Given the description of an element on the screen output the (x, y) to click on. 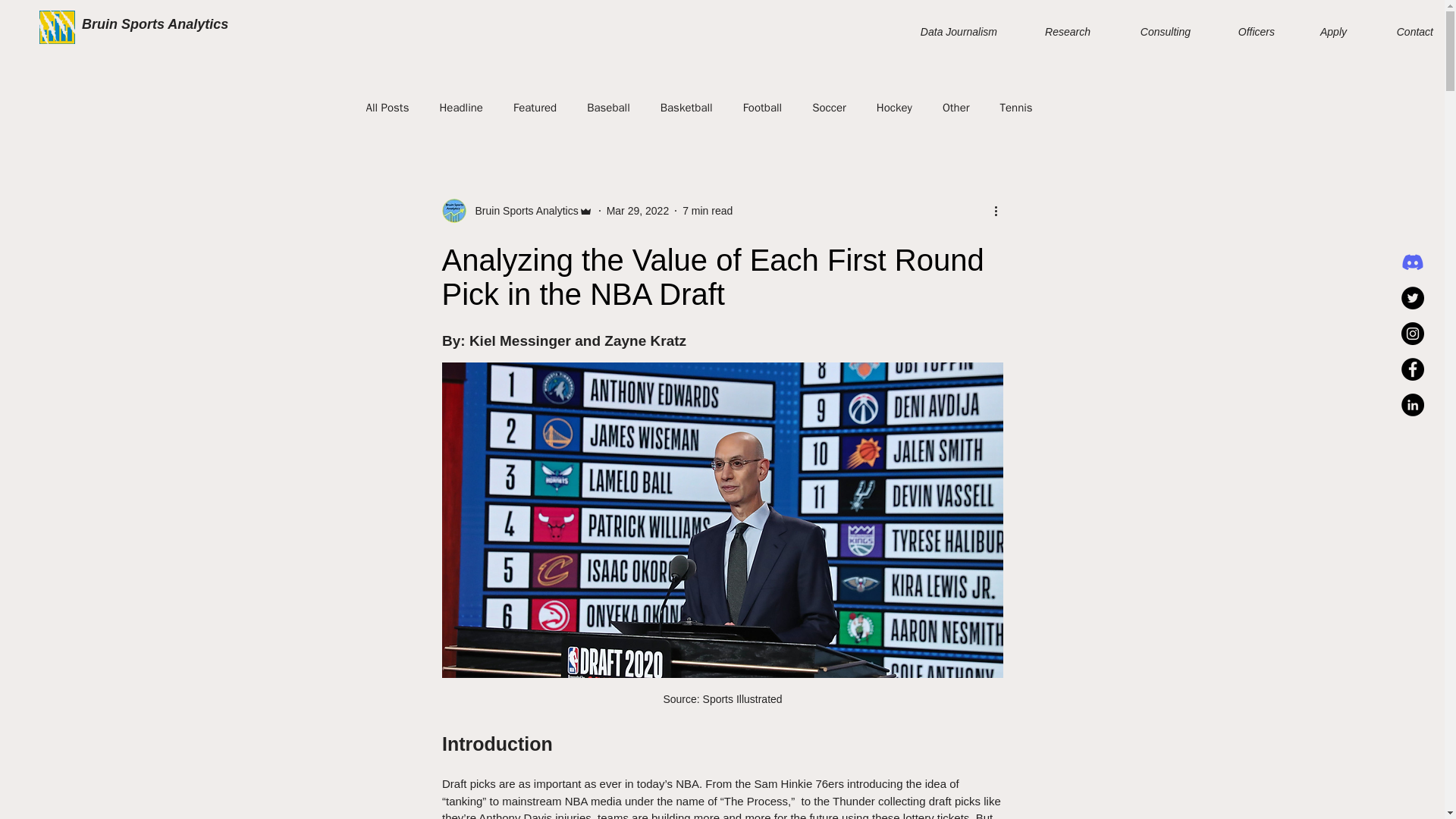
Baseball (608, 106)
Data Journalism (943, 31)
Basketball (687, 106)
Apply (1321, 31)
Mar 29, 2022 (638, 210)
Tennis (1016, 106)
Other (955, 106)
Officers (1243, 31)
7 min read (707, 210)
Research (1055, 31)
